Given the description of an element on the screen output the (x, y) to click on. 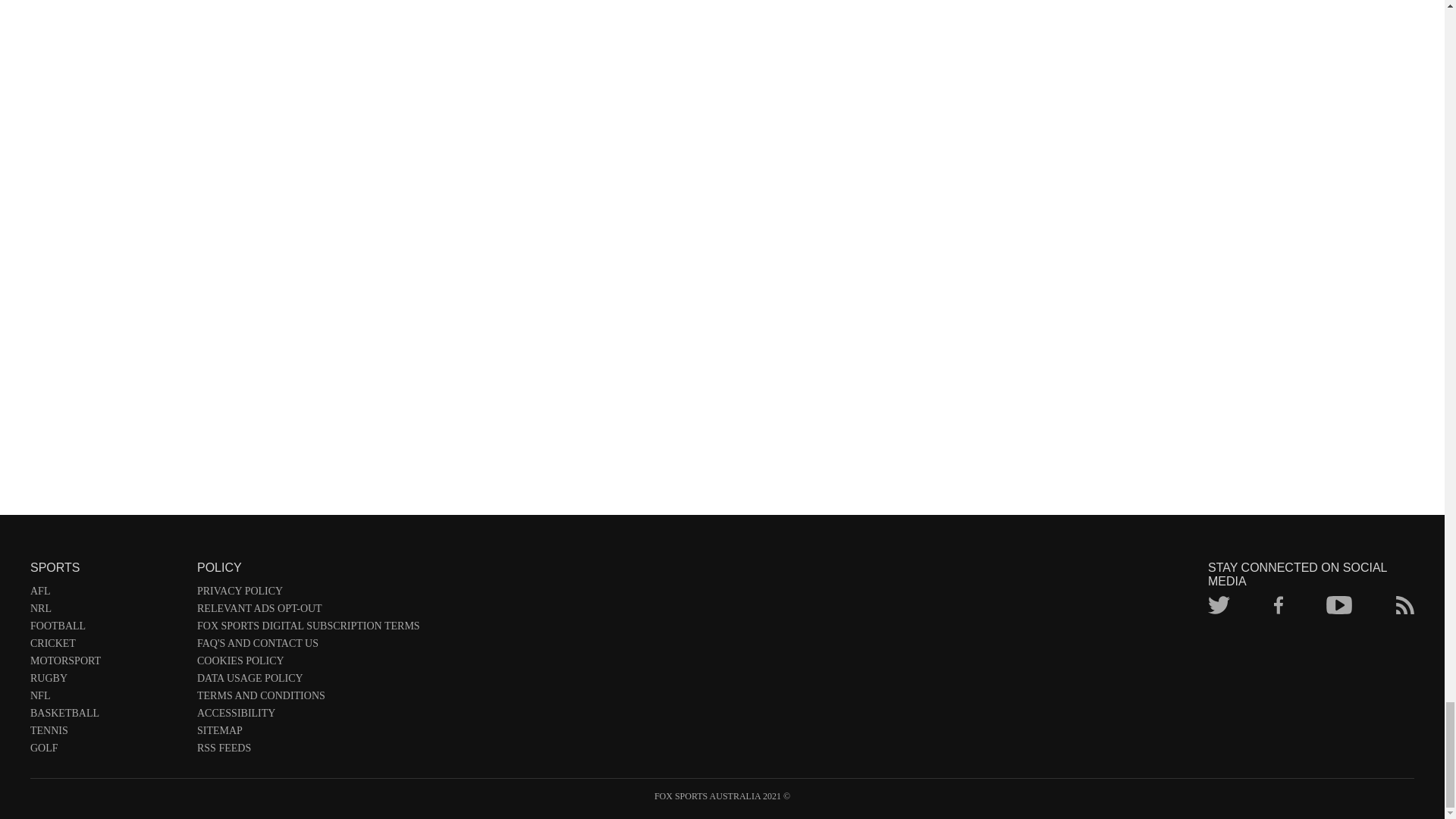
AFL (106, 593)
MOTORSPORT (106, 663)
CRICKET (106, 646)
NRL (106, 610)
FOOTBALL (106, 628)
RUGBY (106, 681)
